Given the description of an element on the screen output the (x, y) to click on. 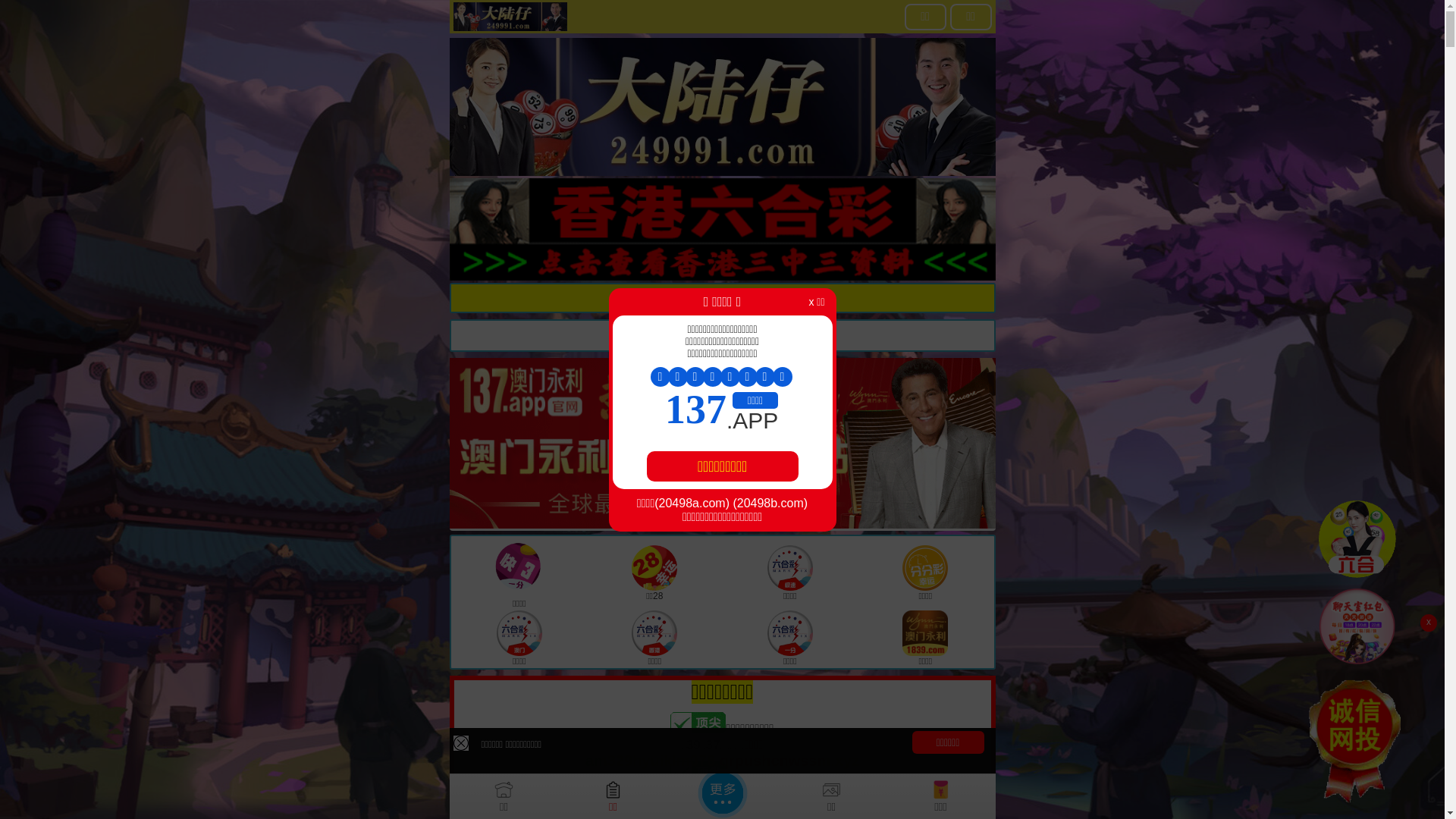
x Element type: text (1428, 622)
